Given the description of an element on the screen output the (x, y) to click on. 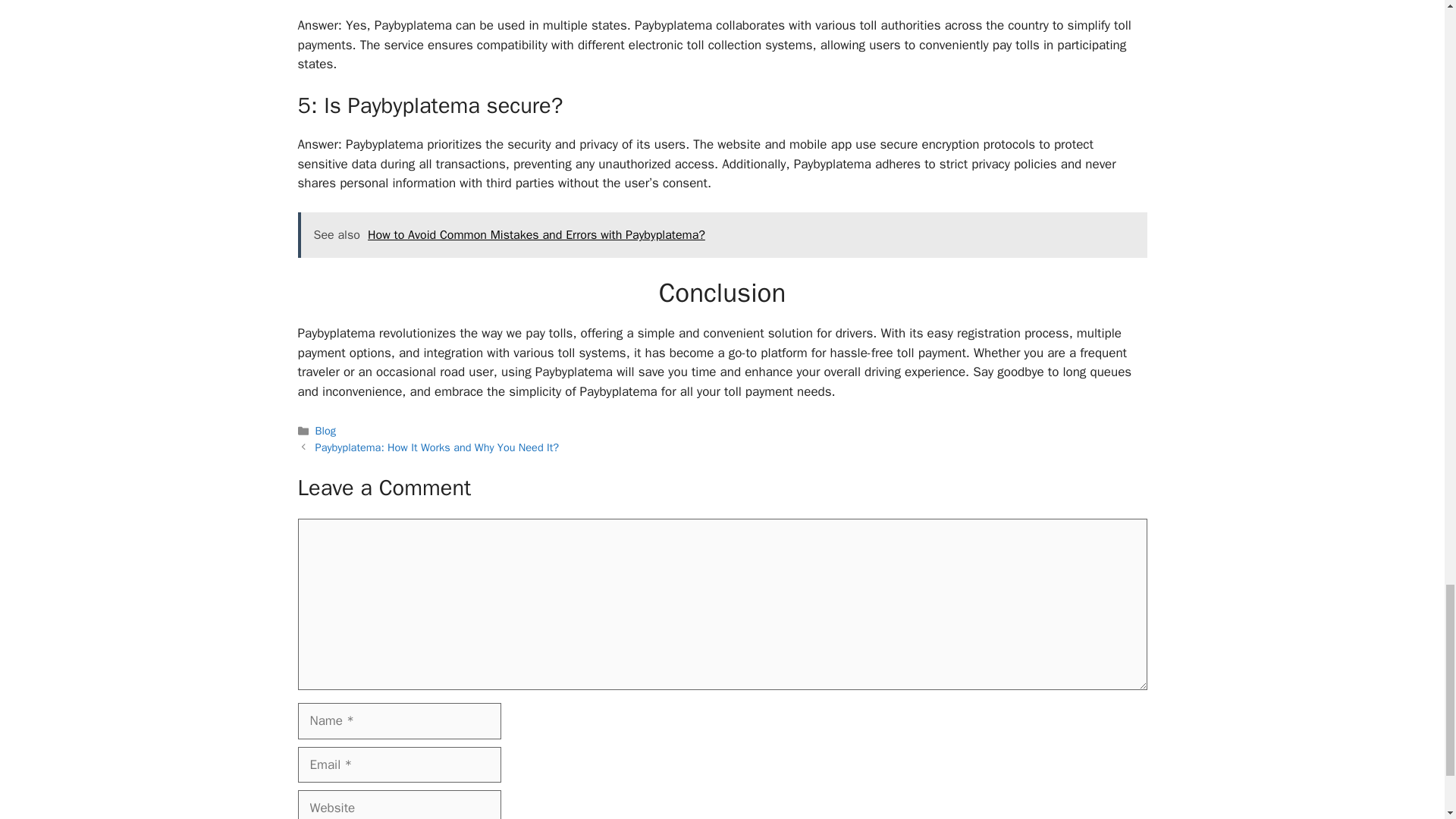
Paybyplatema: How It Works and Why You Need It? (437, 447)
Blog (325, 430)
